Given the description of an element on the screen output the (x, y) to click on. 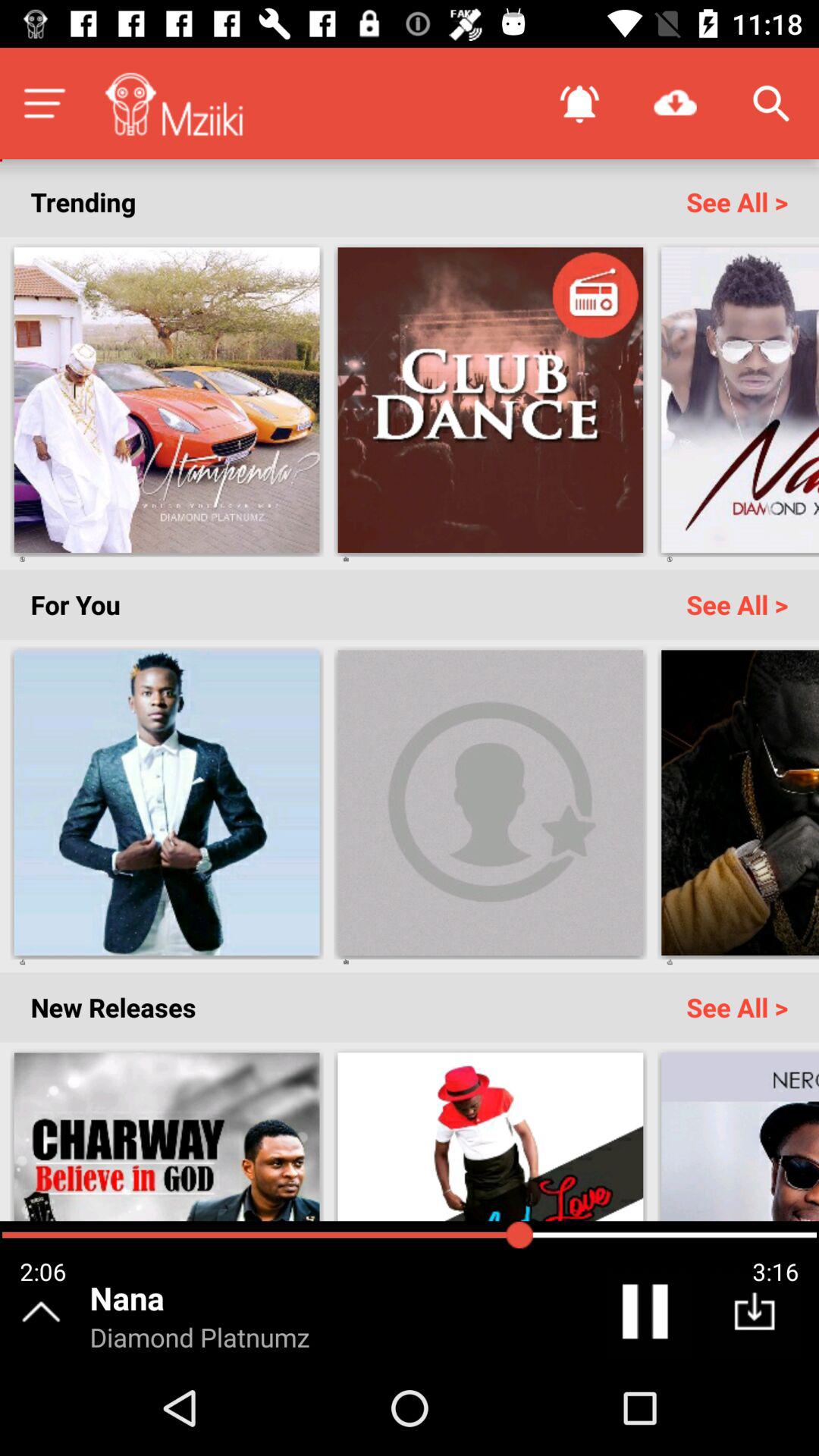
pause (647, 1315)
